Given the description of an element on the screen output the (x, y) to click on. 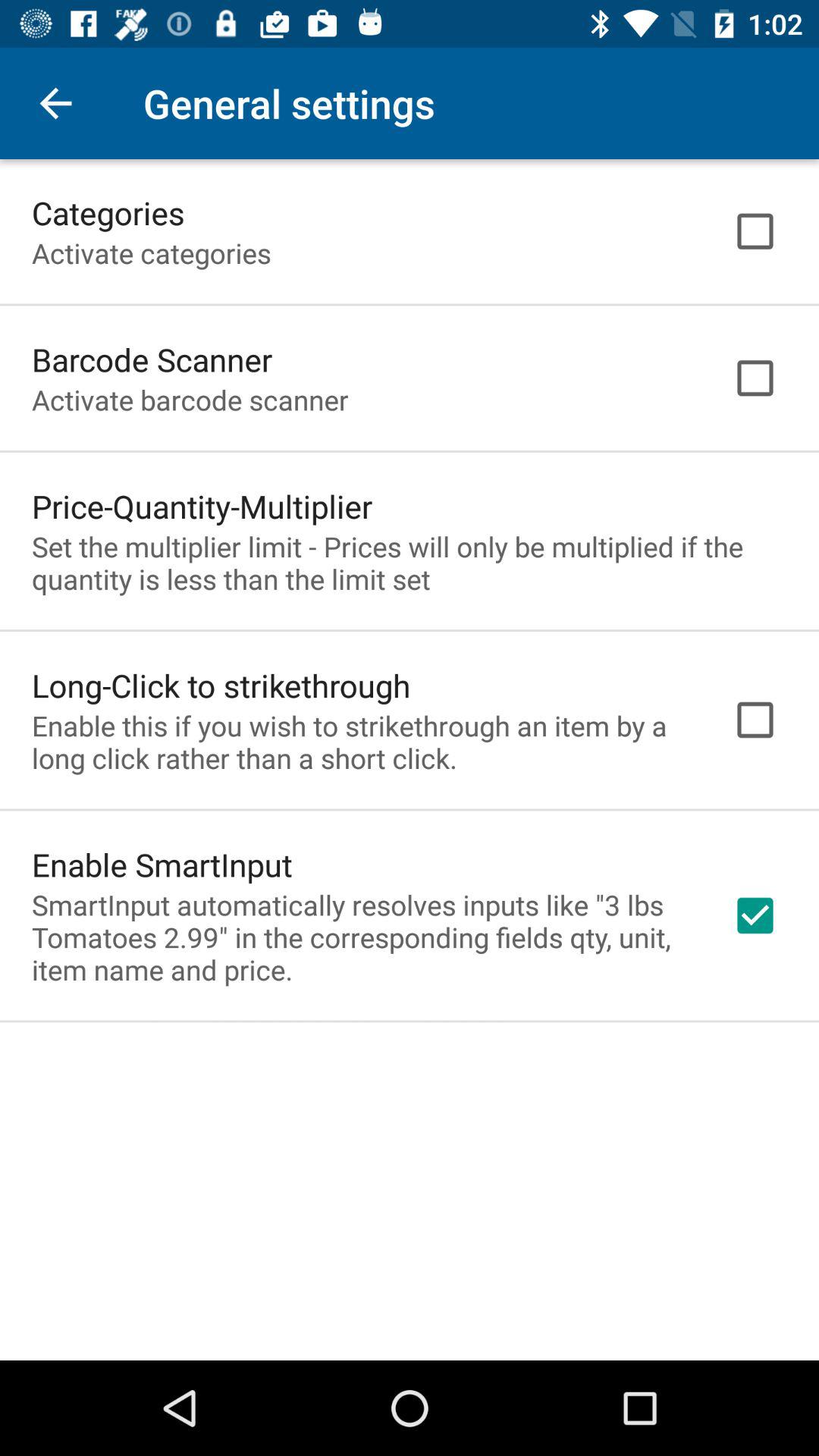
jump until the enable this if item (361, 741)
